Given the description of an element on the screen output the (x, y) to click on. 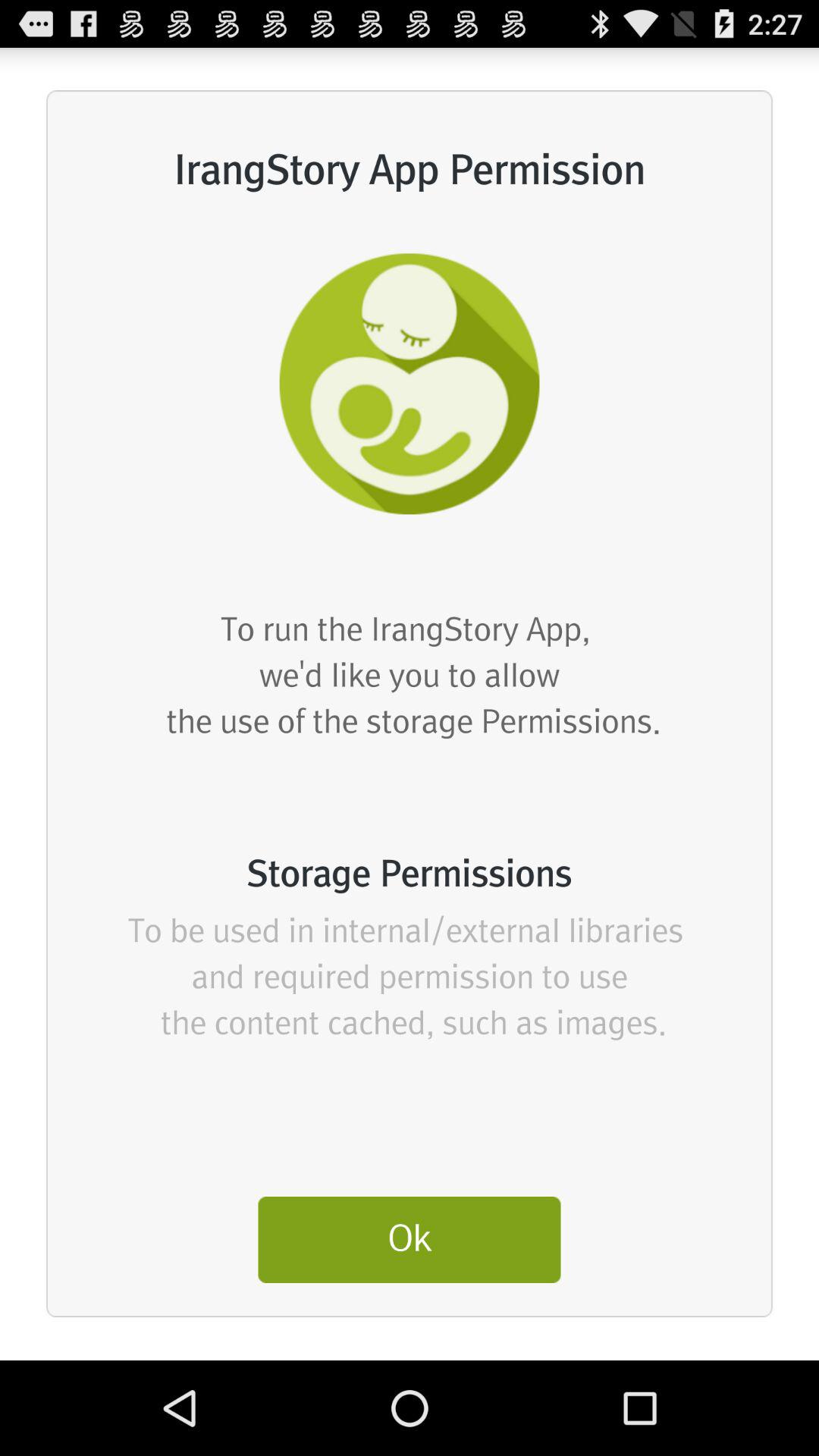
scroll to the ok (409, 1239)
